Given the description of an element on the screen output the (x, y) to click on. 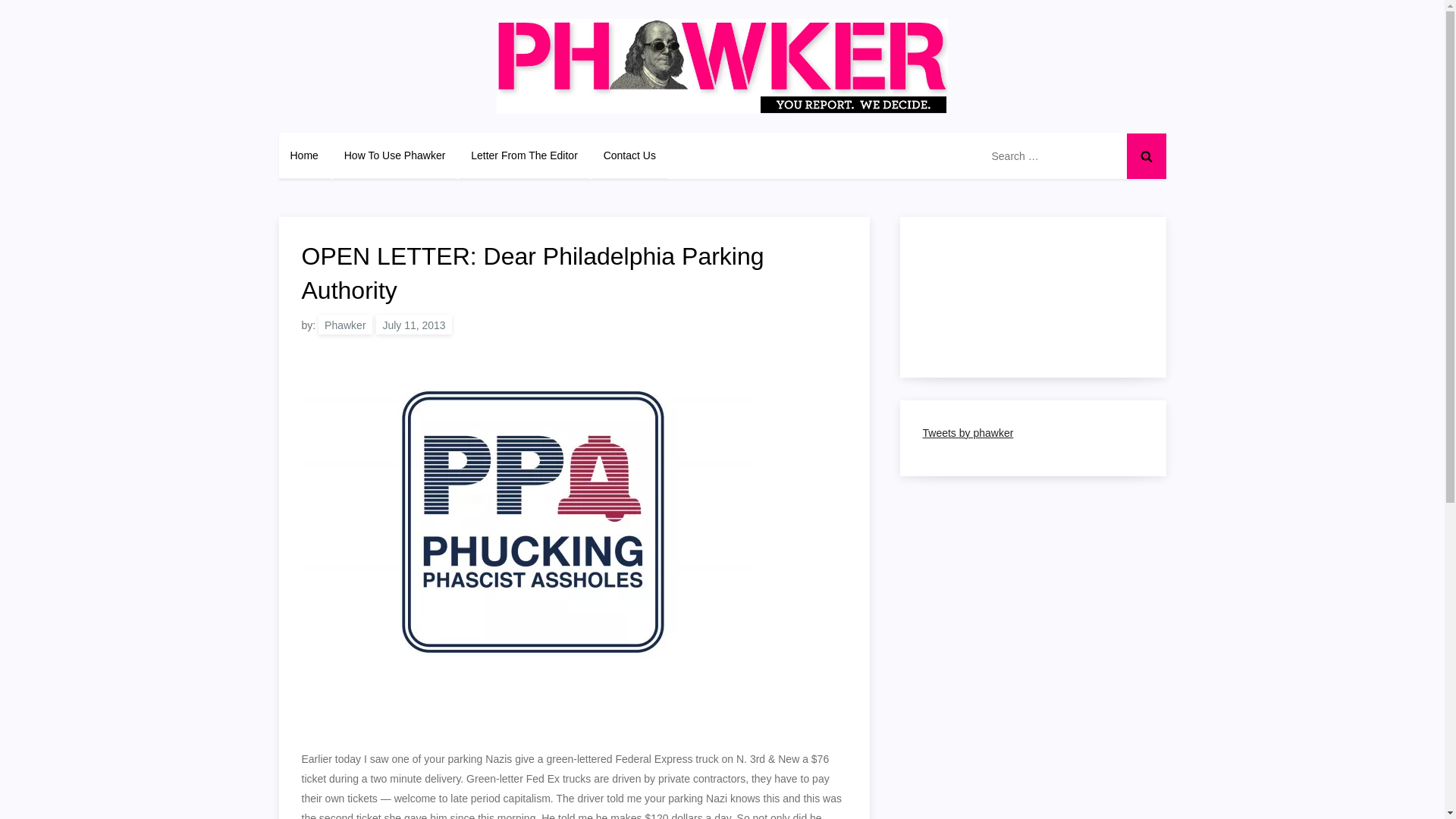
Tweets by phawker (967, 432)
Contact Us (629, 155)
July 11, 2013 (413, 324)
Letter From The Editor (524, 155)
How To Use Phawker (395, 155)
Home (304, 155)
Phawker (344, 324)
